Given the description of an element on the screen output the (x, y) to click on. 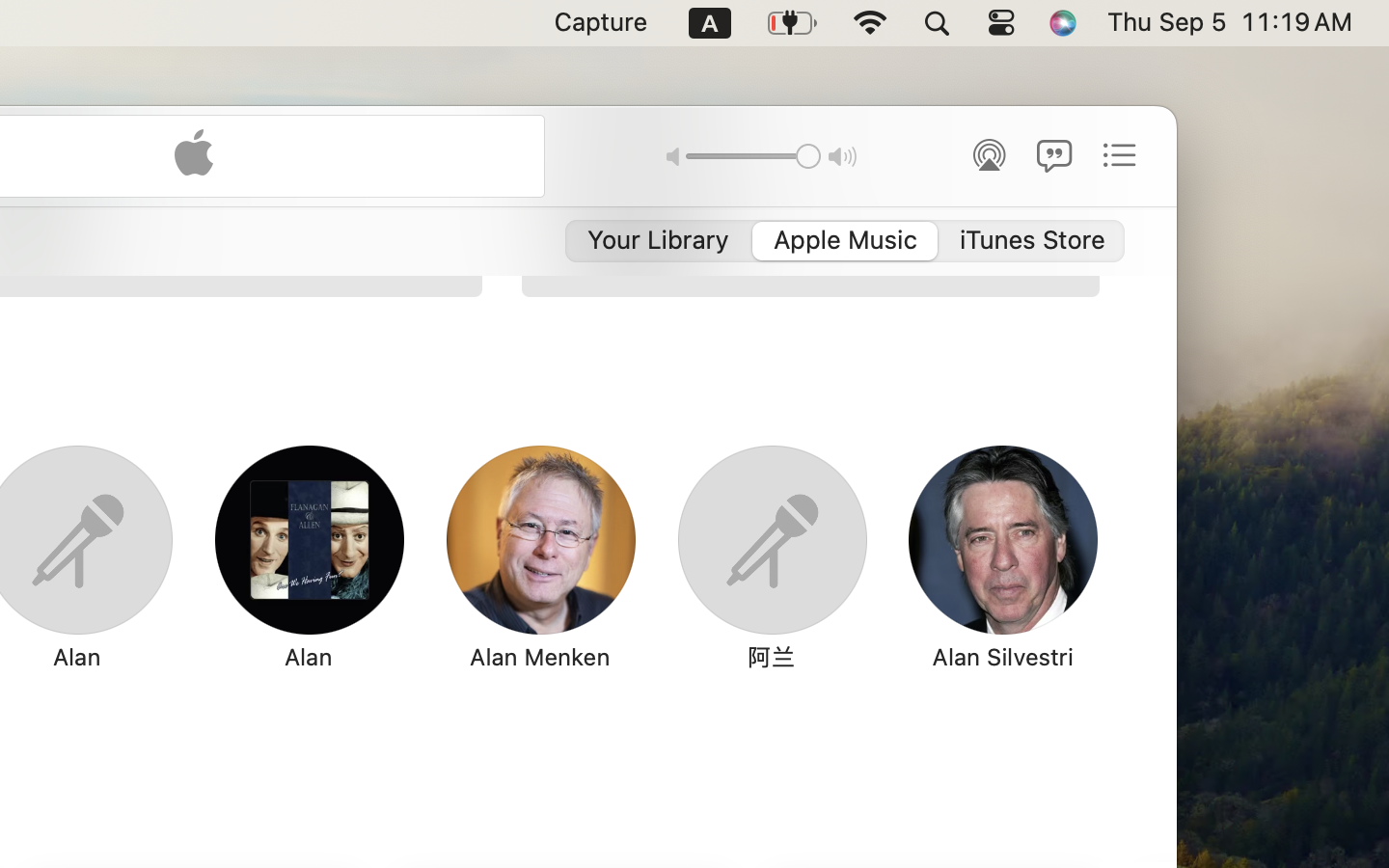
Alan Element type: AXStaticText (307, 656)
Artist Element type: AXStaticText (164, 201)
1.0 Element type: AXSlider (751, 155)
